Given the description of an element on the screen output the (x, y) to click on. 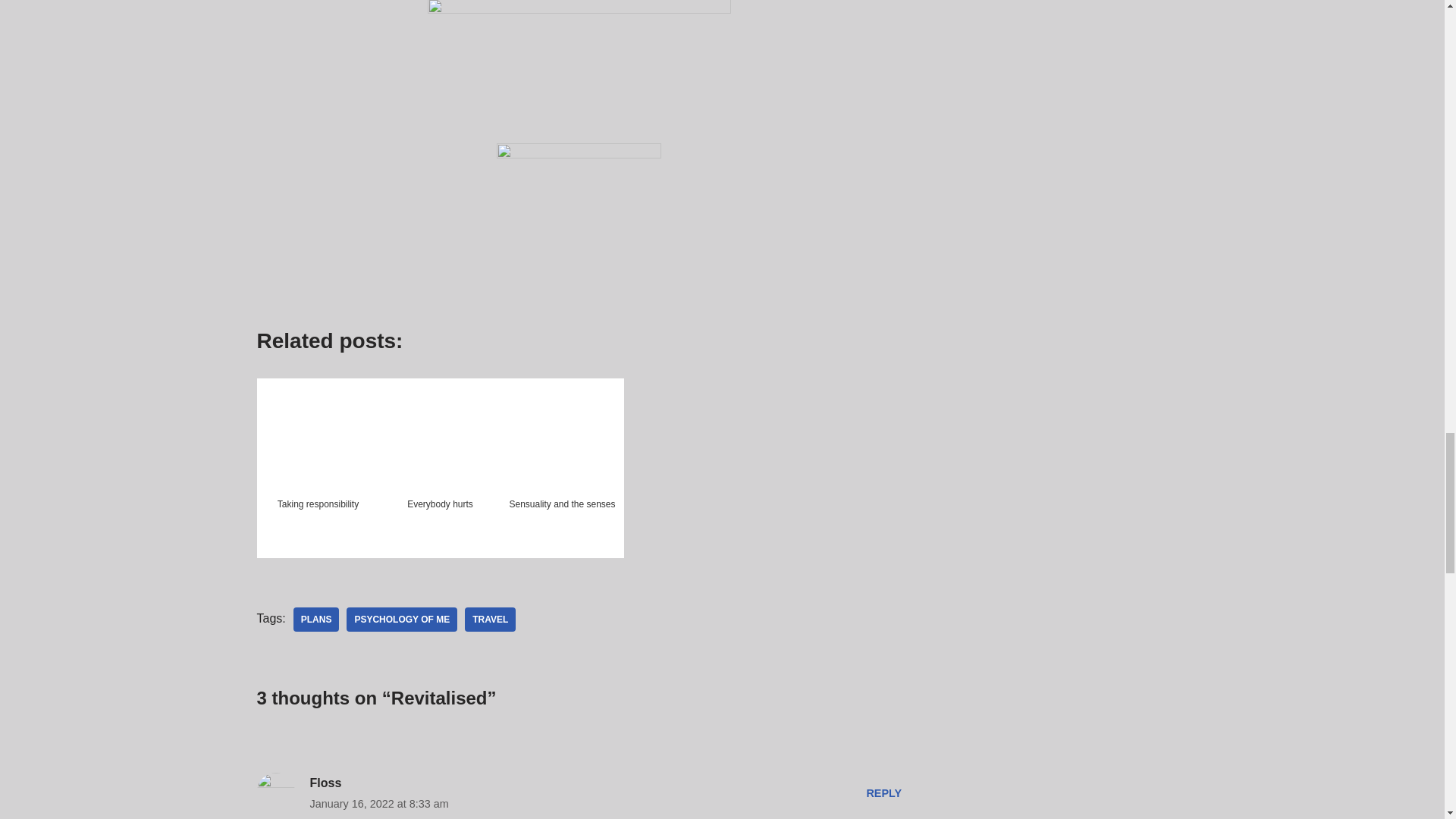
psychology of me (401, 619)
Plans (316, 619)
Travel (489, 619)
